Given the description of an element on the screen output the (x, y) to click on. 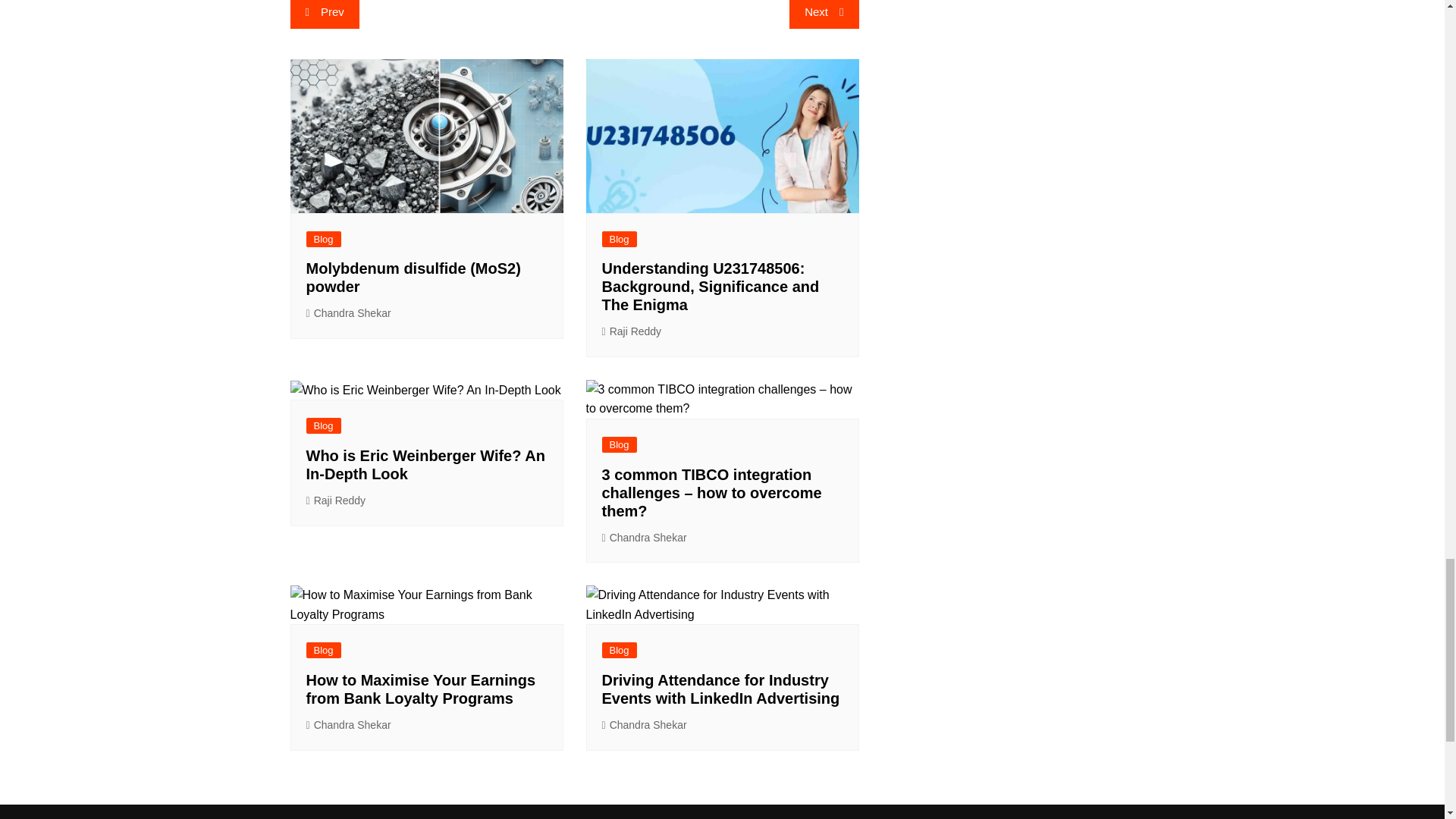
Raji Reddy (632, 331)
Blog (322, 425)
Who is Eric Weinberger Wife? An In-Depth Look (424, 464)
Chandra Shekar (348, 313)
Raji Reddy (335, 500)
Chandra Shekar (644, 538)
Blog (619, 444)
Next (824, 14)
Blog (322, 238)
Blog (619, 238)
Prev (323, 14)
